Given the description of an element on the screen output the (x, y) to click on. 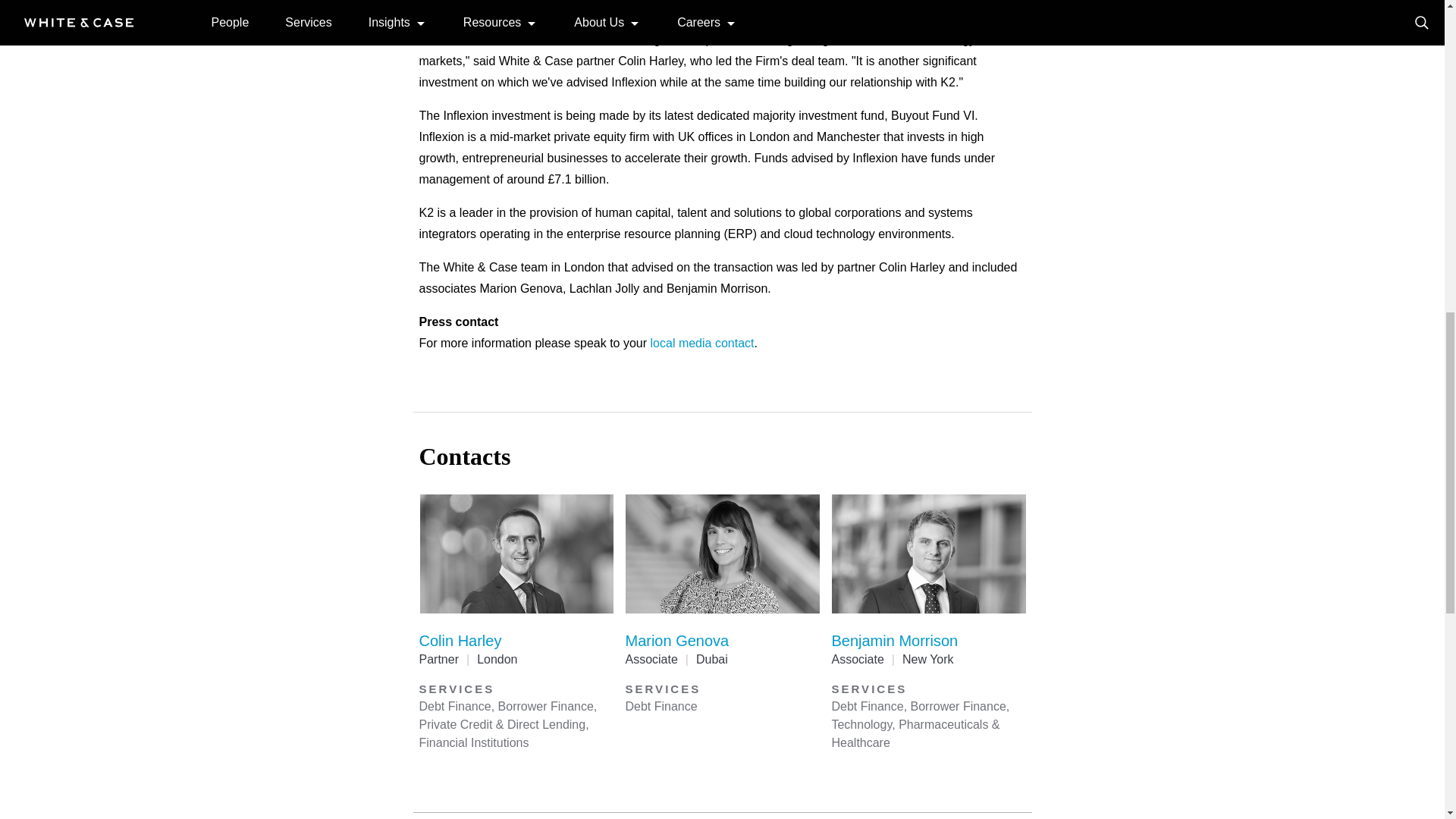
Marion Genova (676, 640)
Colin Harley (459, 640)
local media contact (702, 342)
Benjamin Morrison (894, 640)
